Given the description of an element on the screen output the (x, y) to click on. 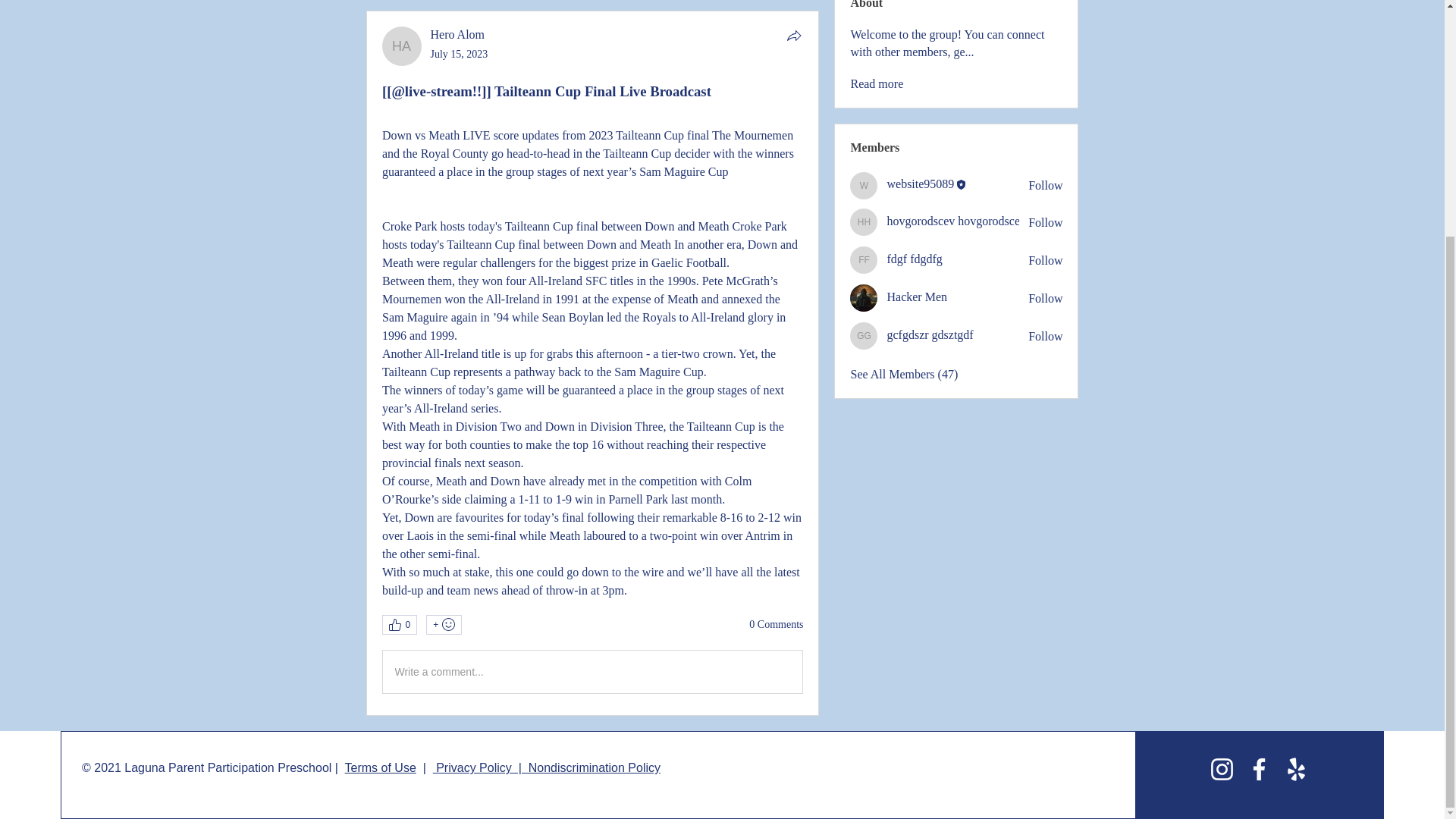
website95089 (863, 185)
0 Comments (776, 624)
Hacker Men (863, 298)
Write a comment... (591, 671)
Hero Alom (401, 46)
gcfgdszr gdsztgdf (863, 335)
Read more (876, 84)
hovgorodscev hovgorodscev (863, 221)
July 15, 2023 (458, 53)
fdgf fdgdfg (863, 259)
